Given the description of an element on the screen output the (x, y) to click on. 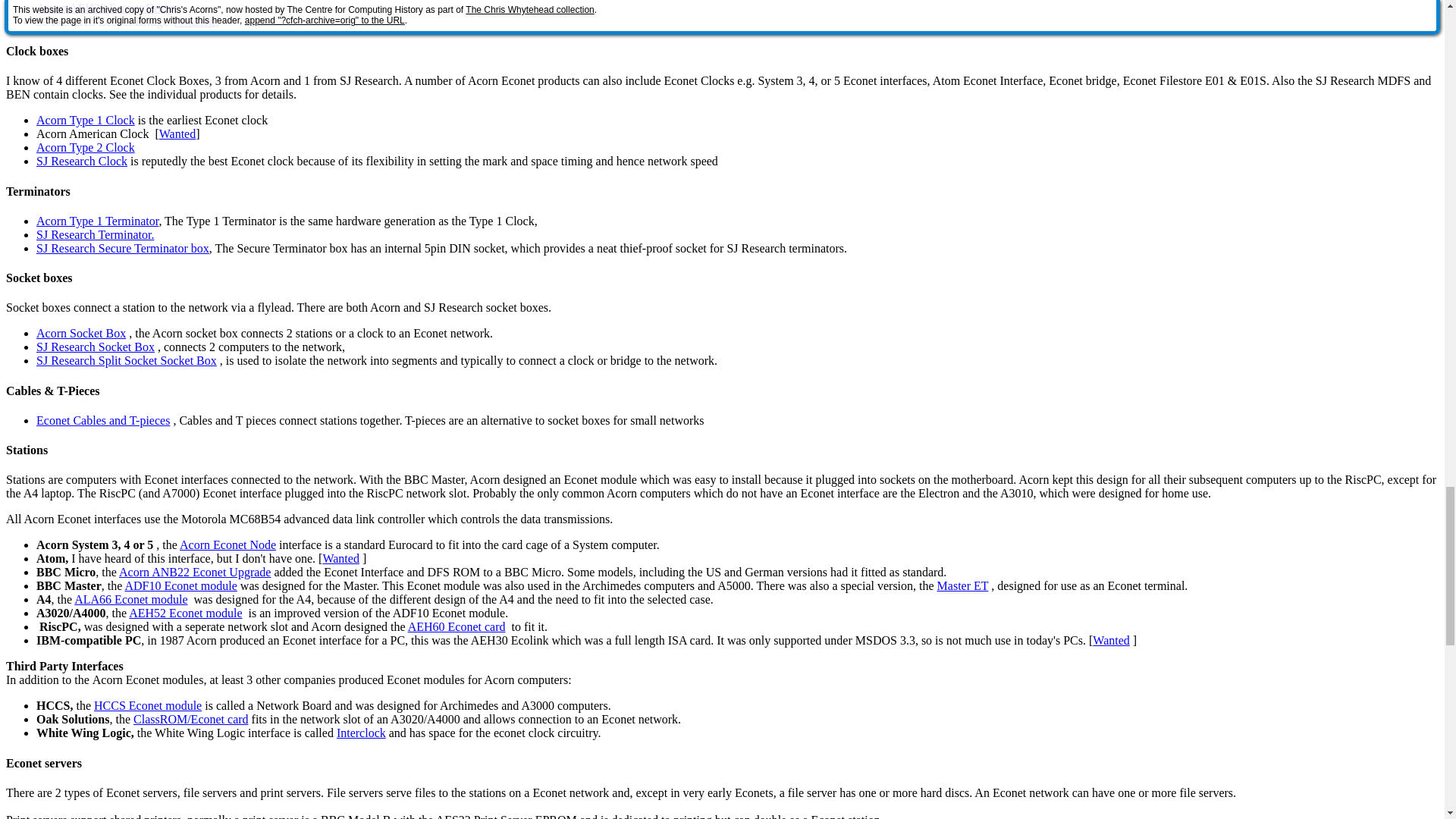
Acorn Type 1 Clock (85, 119)
Acorn AEH20 Econet Bridge (107, 7)
Acorn Type 2 Clock (85, 146)
Wanted (176, 133)
Wanted (195, 21)
